Given the description of an element on the screen output the (x, y) to click on. 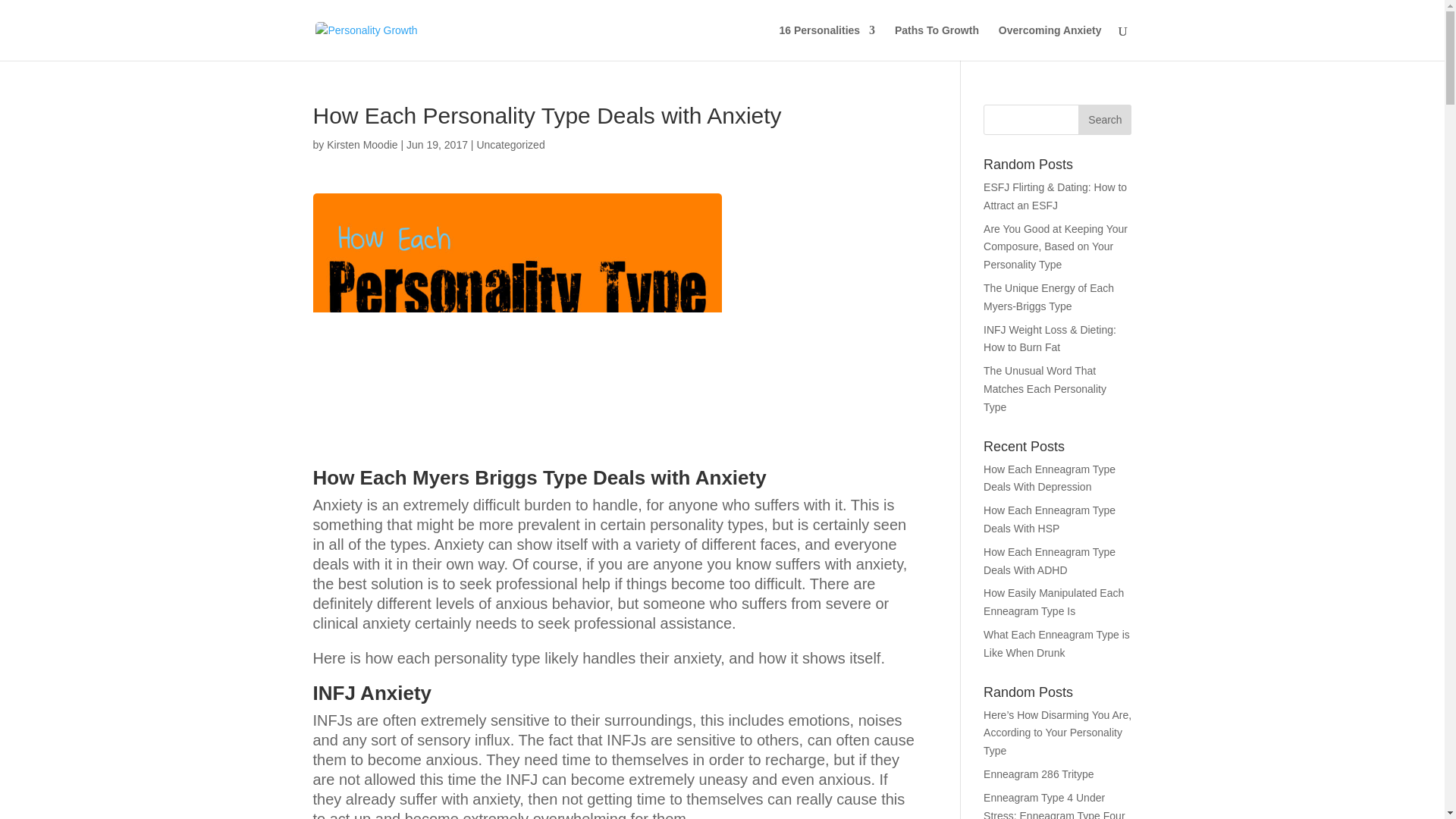
Uncategorized (510, 144)
Kirsten Moodie (361, 144)
Overcoming Anxiety (1050, 42)
Paths To Growth (936, 42)
Search (1104, 119)
16 Personalities (826, 42)
The Unique Energy of Each Myers-Briggs Type (1048, 296)
Posts by Kirsten Moodie (361, 144)
Search (1104, 119)
